Given the description of an element on the screen output the (x, y) to click on. 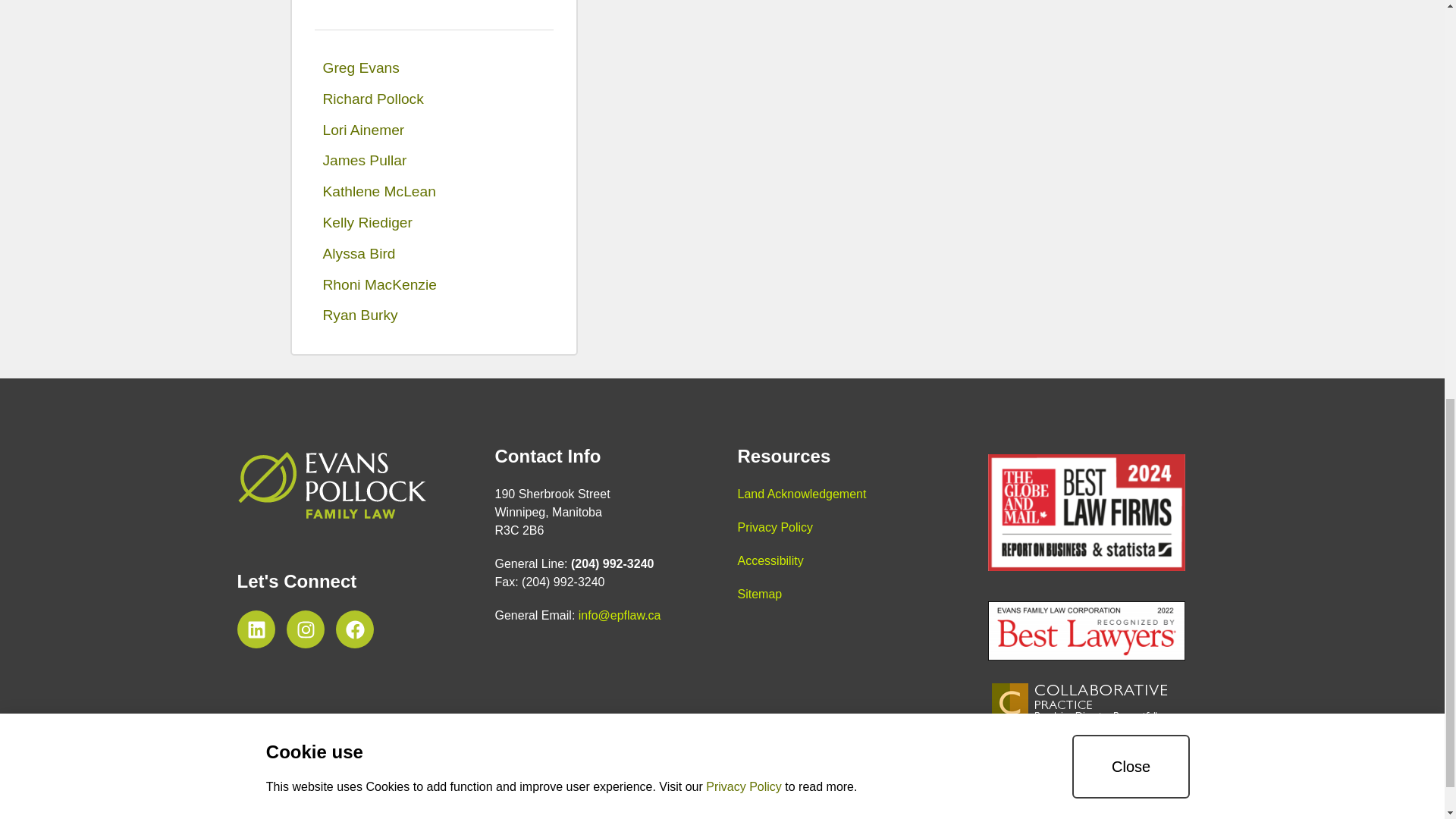
James Pullar (433, 160)
Ryan Burky (433, 315)
Kathlene McLean (433, 192)
Lori Ainemer (433, 130)
Richard Pollock (433, 99)
Land Acknowledgement (801, 493)
Kelly Riediger (433, 223)
Greg Evans (433, 68)
Rhoni MacKenzie (433, 285)
Privacy Policy (774, 526)
Alyssa Bird (433, 254)
